Given the description of an element on the screen output the (x, y) to click on. 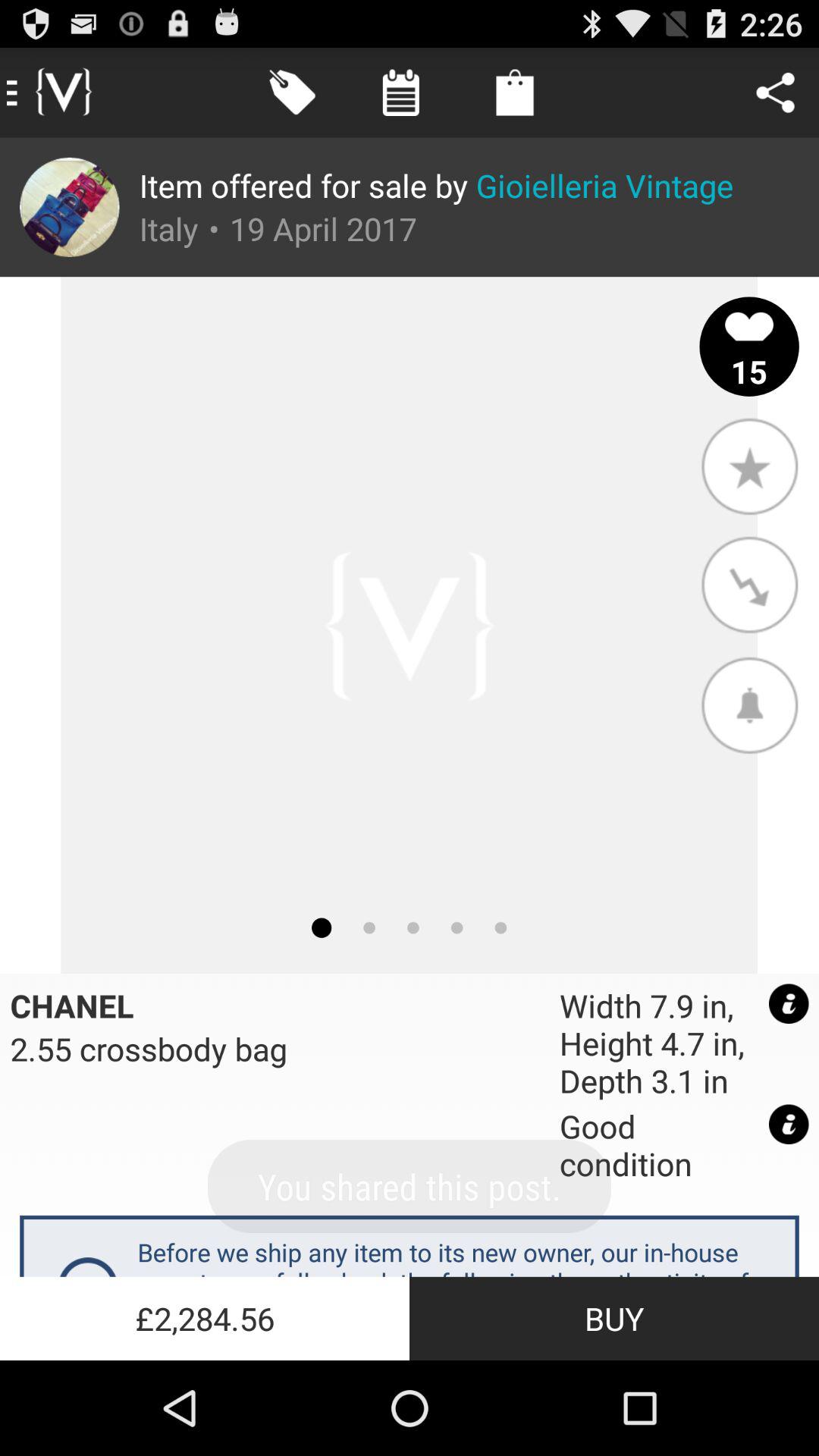
tap buy (614, 1318)
